Given the description of an element on the screen output the (x, y) to click on. 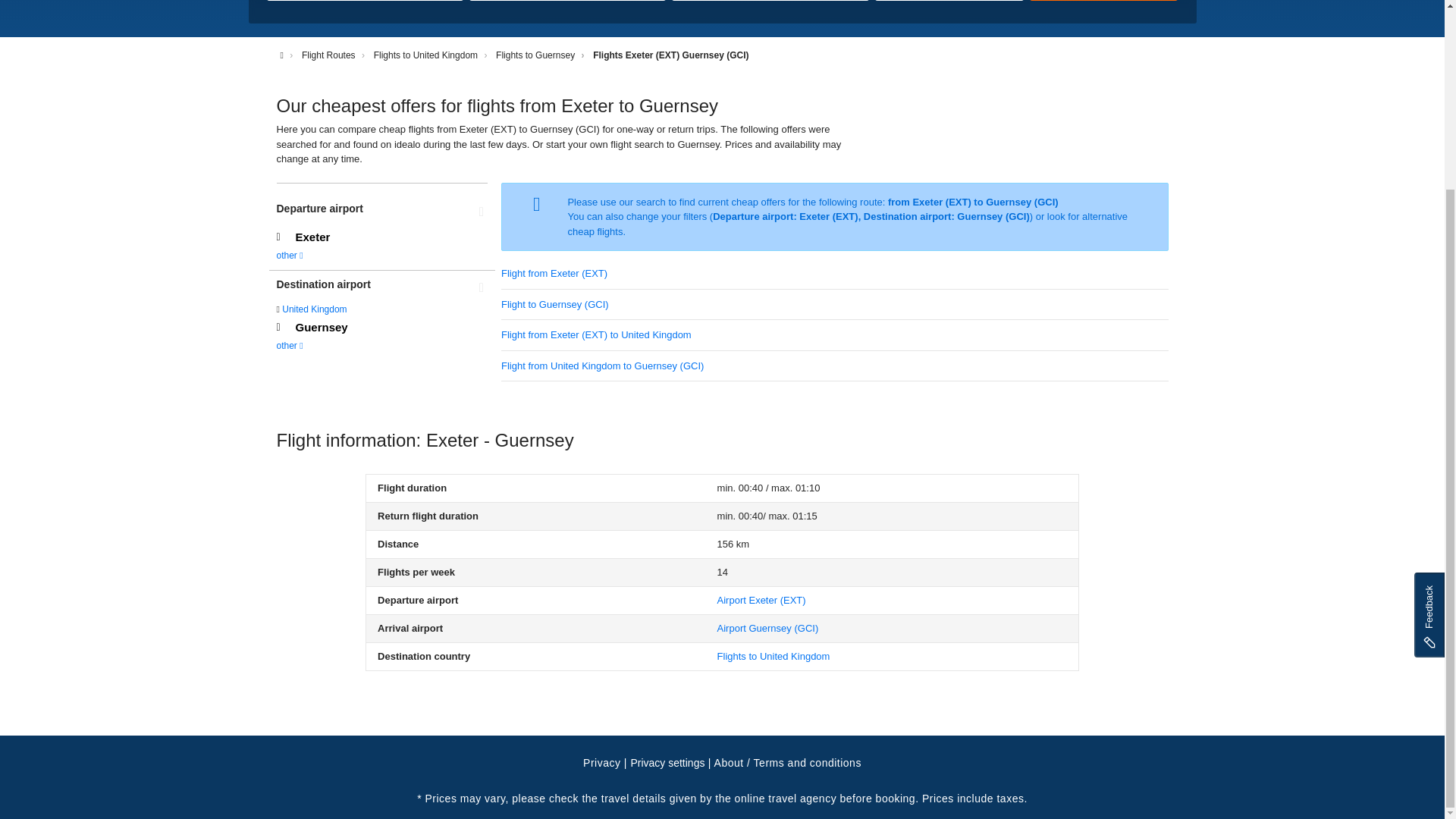
Flight Routes (328, 54)
Flights Exeter (761, 600)
Guernsey (381, 327)
Exeter (381, 237)
United Kingdom (314, 308)
other (289, 345)
Flights to United Kingdom (425, 54)
Flights Guernsey (767, 627)
Privacy (601, 762)
